Given the description of an element on the screen output the (x, y) to click on. 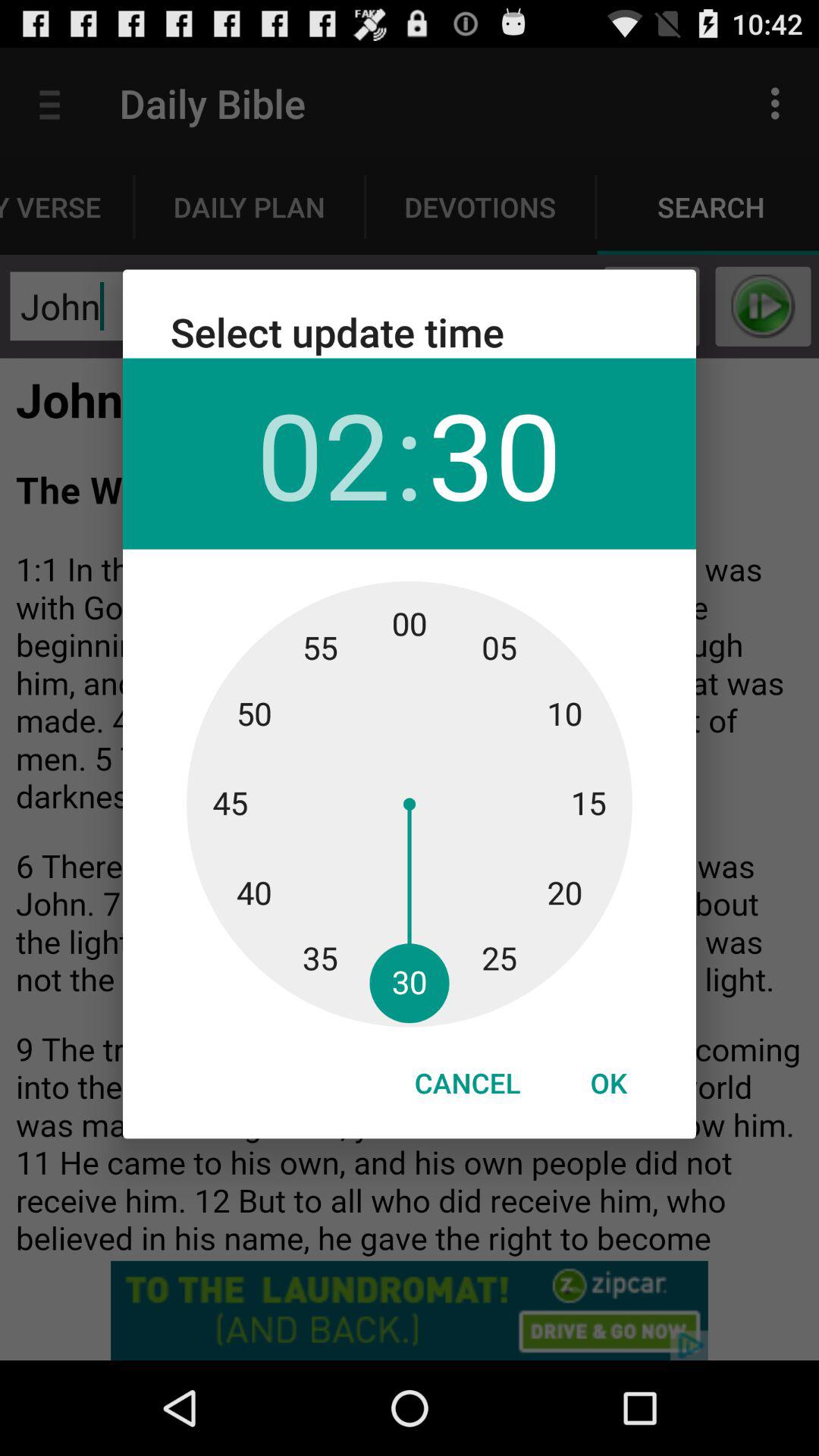
flip to ok (608, 1082)
